Given the description of an element on the screen output the (x, y) to click on. 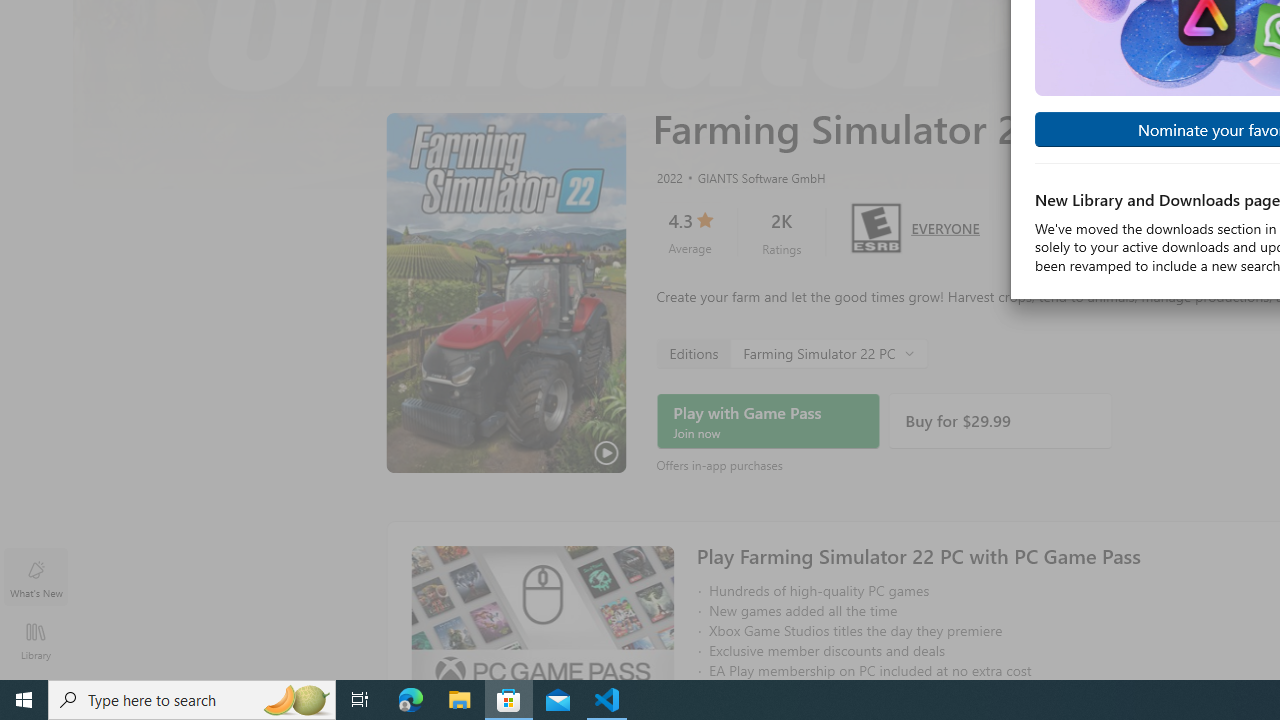
Play with Game Pass (767, 421)
2022 (667, 177)
Play Trailer (505, 293)
4.3 stars. Click to skip to ratings and reviews (689, 232)
Buy (1000, 421)
GIANTS Software GmbH (753, 177)
Age rating: EVERYONE. Click for more information. (945, 226)
Farming Simulator 22 PC, Edition selector (791, 352)
